Given the description of an element on the screen output the (x, y) to click on. 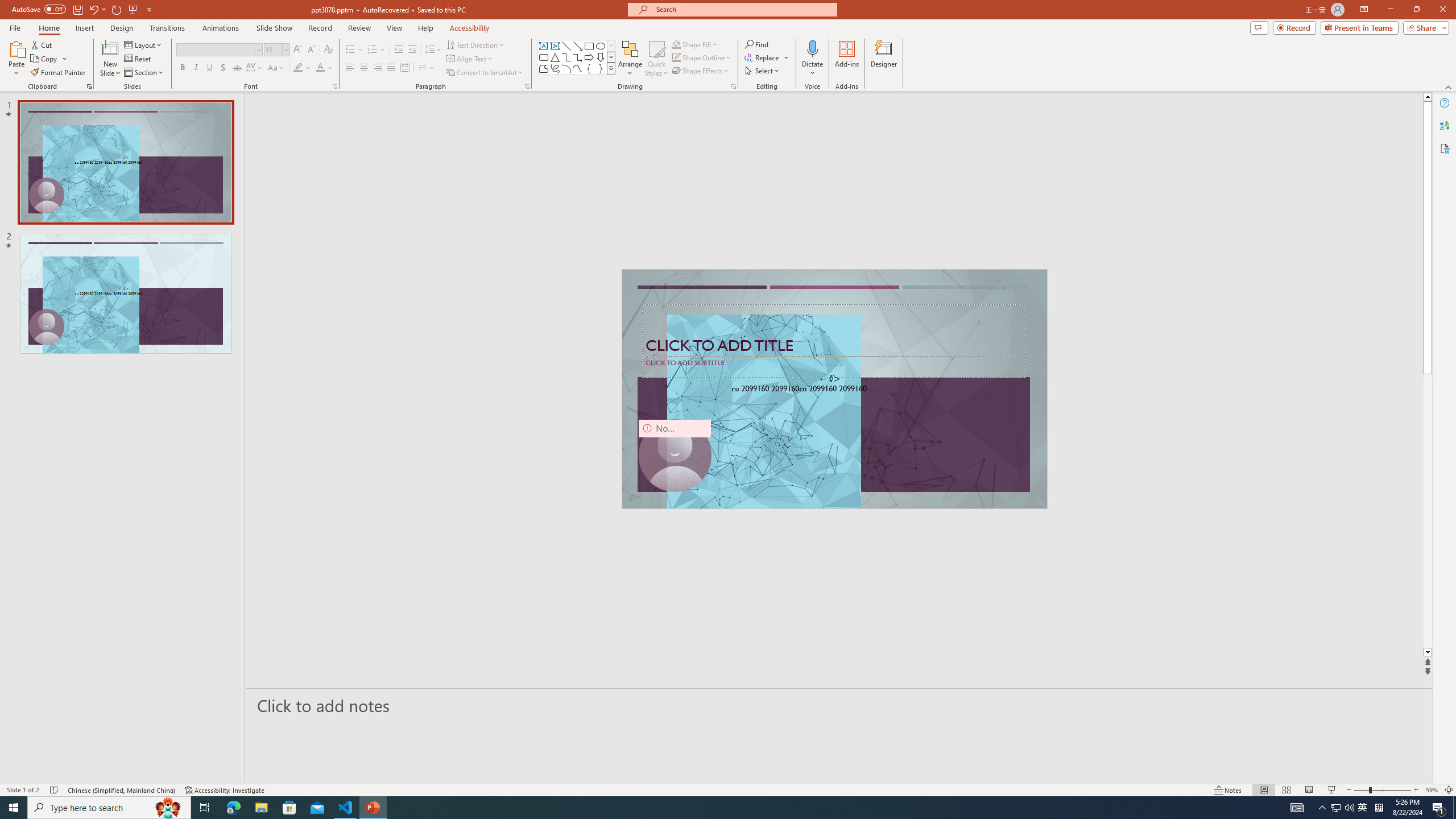
Text Highlight Color (302, 67)
Convert to SmartArt (485, 72)
Columns (426, 67)
Shape Effects (700, 69)
Increase Indent (412, 49)
